Given the description of an element on the screen output the (x, y) to click on. 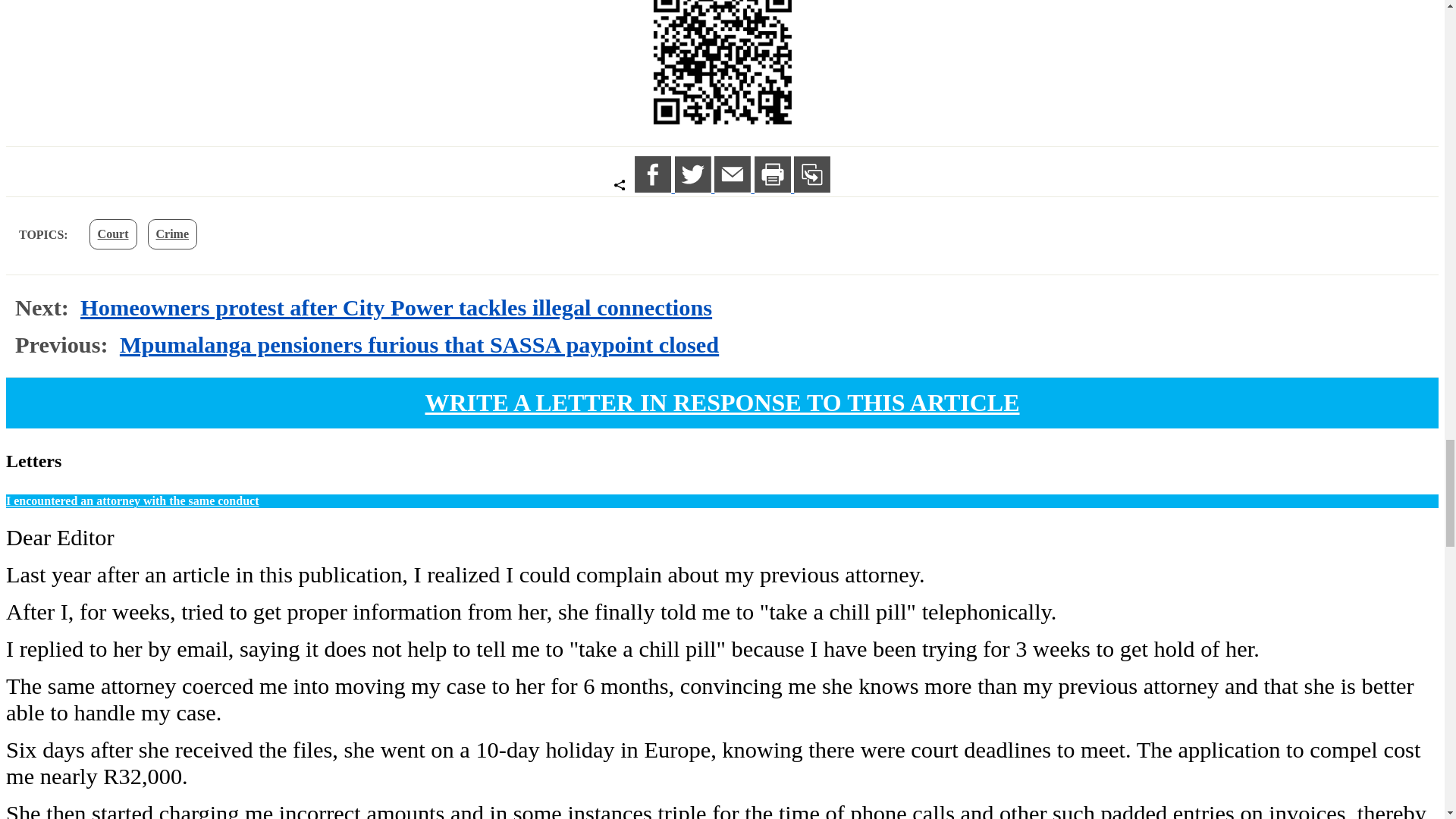
Court (112, 234)
Print (774, 187)
Share on Facebook (654, 187)
Email (734, 187)
Republish this article (811, 187)
Share on Twitter (694, 187)
